Given the description of an element on the screen output the (x, y) to click on. 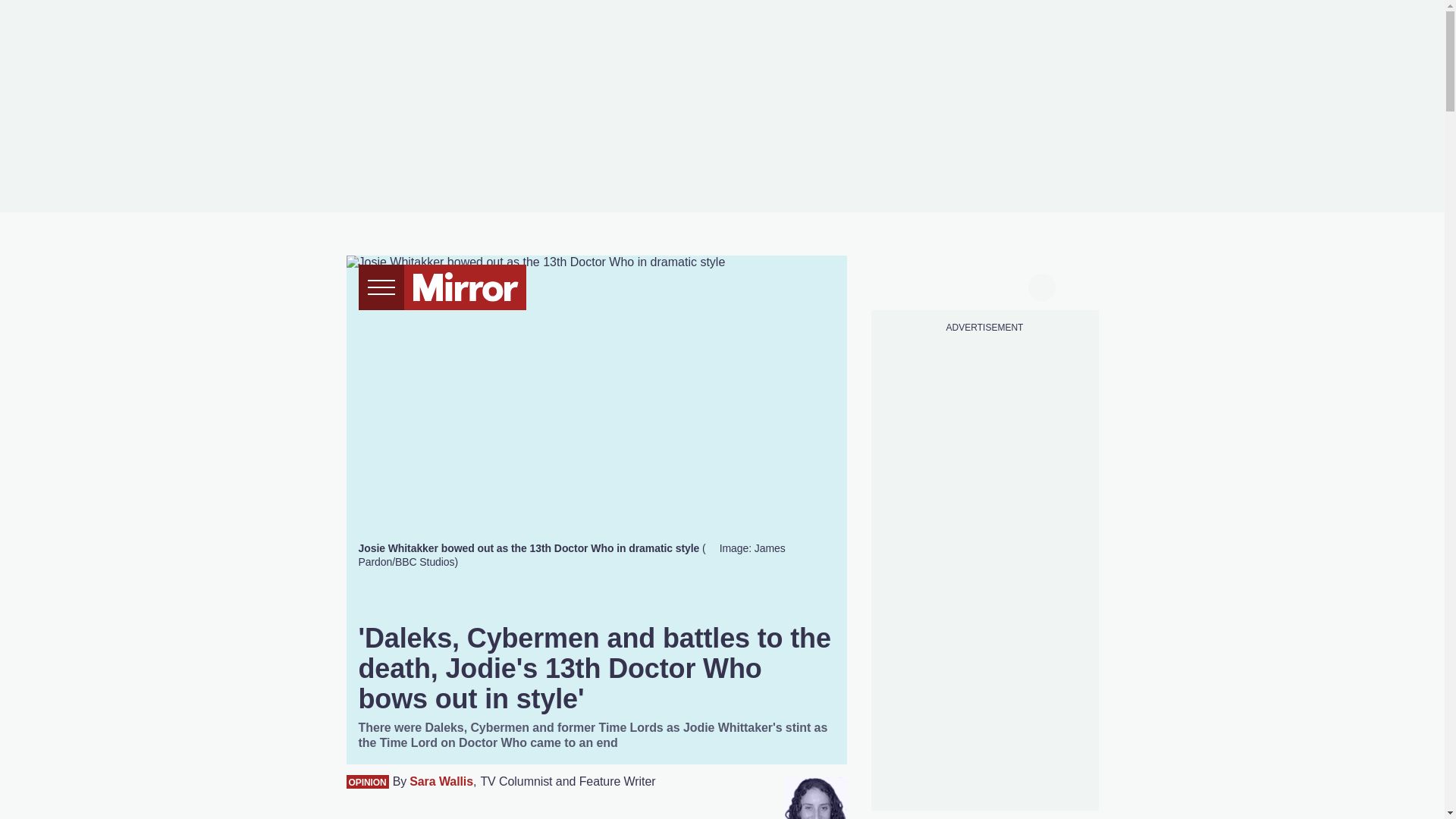
twitter (926, 285)
facebook (897, 285)
instagram (984, 285)
Sara Wallis (441, 781)
snapchat (1012, 285)
tiktok (955, 285)
